Given the description of an element on the screen output the (x, y) to click on. 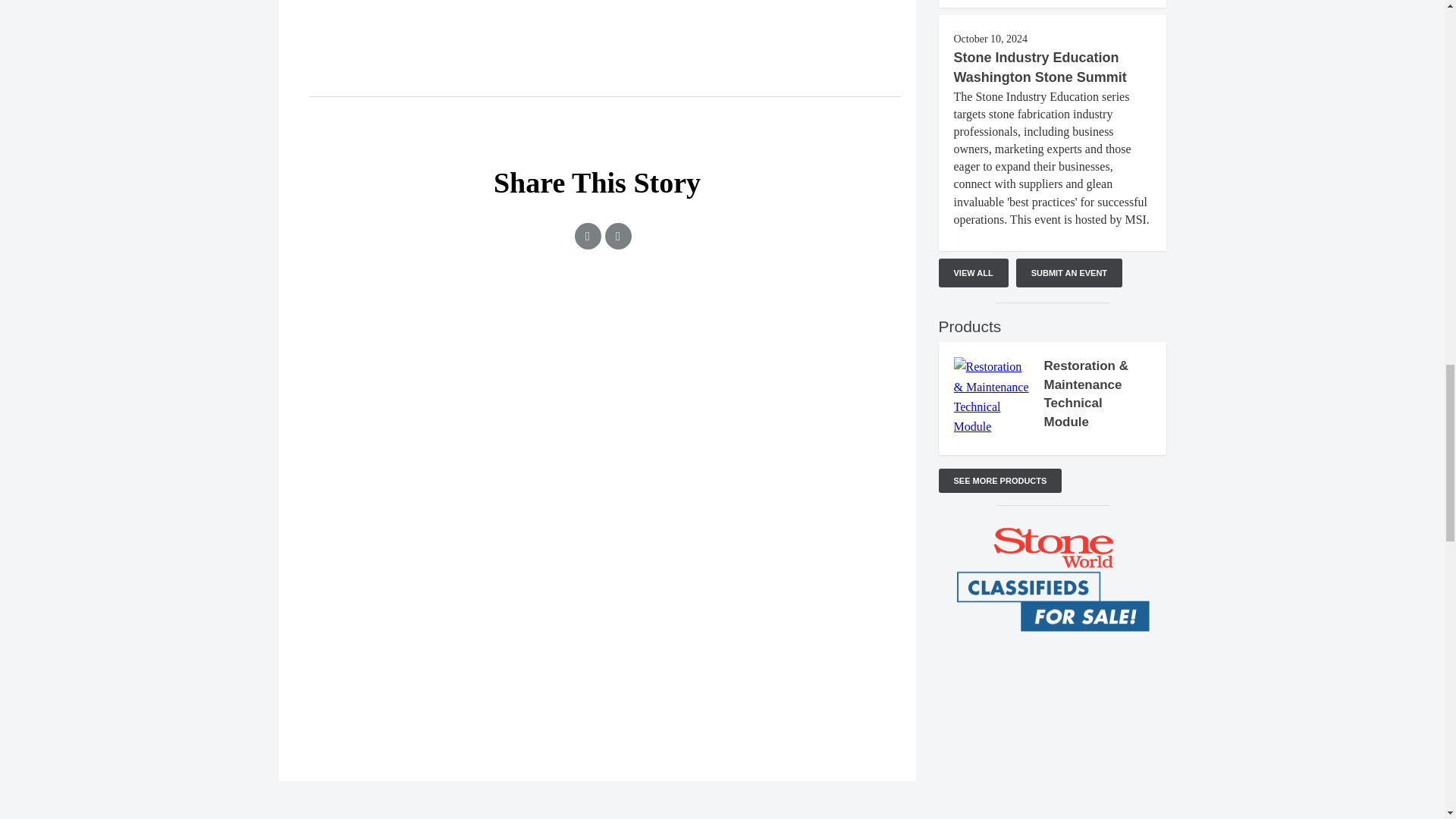
Interaction questions (1052, 719)
Interaction questions (597, 354)
Stone Industry Education Washington Stone Summit (1039, 67)
